Given the description of an element on the screen output the (x, y) to click on. 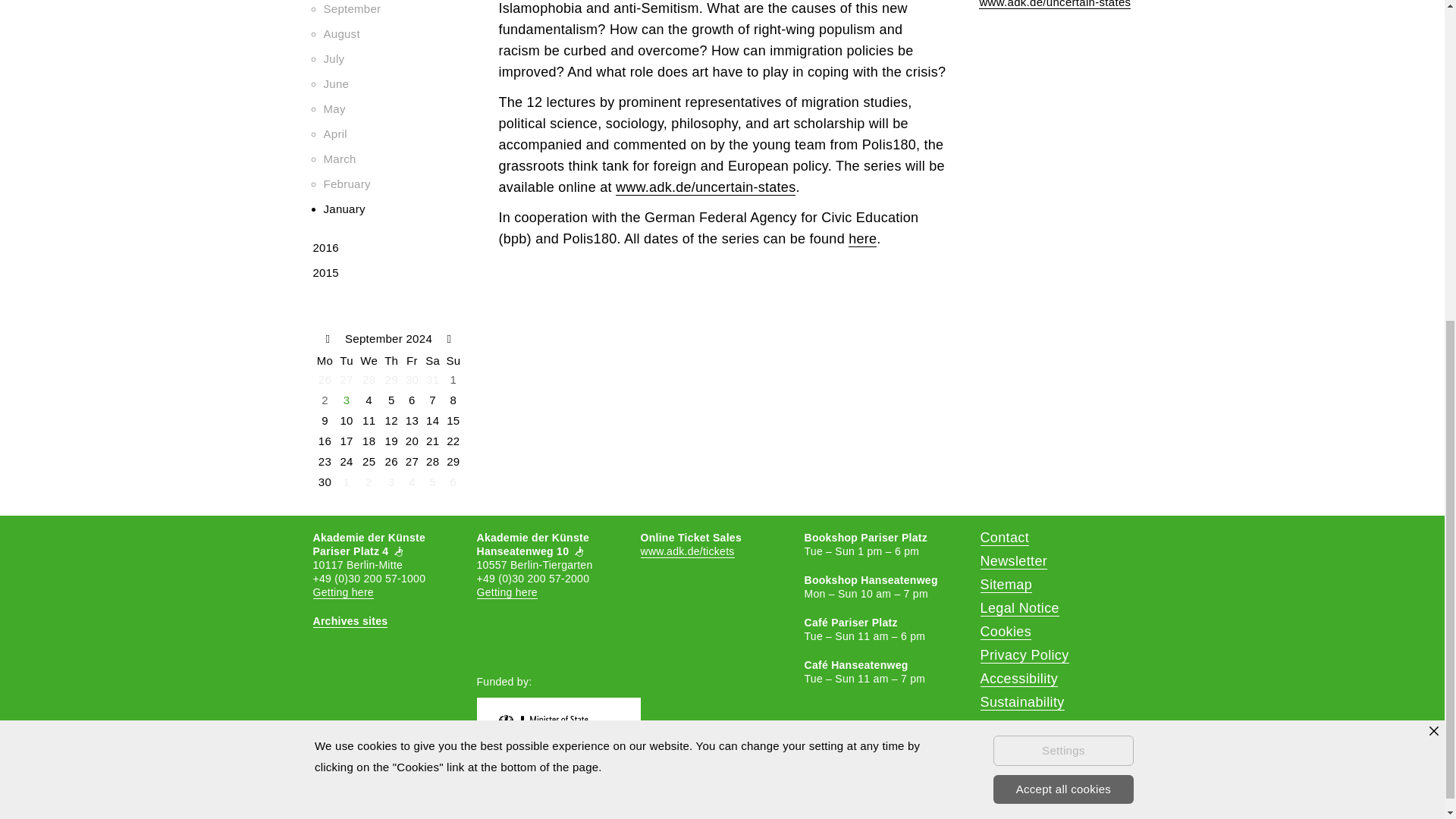
Accept all cookies (1063, 257)
Location Hanseatenweg (506, 592)
September (351, 8)
July (333, 58)
January (344, 208)
2015 (325, 272)
Location Pariser Platz (342, 592)
March (339, 158)
August (341, 33)
26 (324, 379)
